Given the description of an element on the screen output the (x, y) to click on. 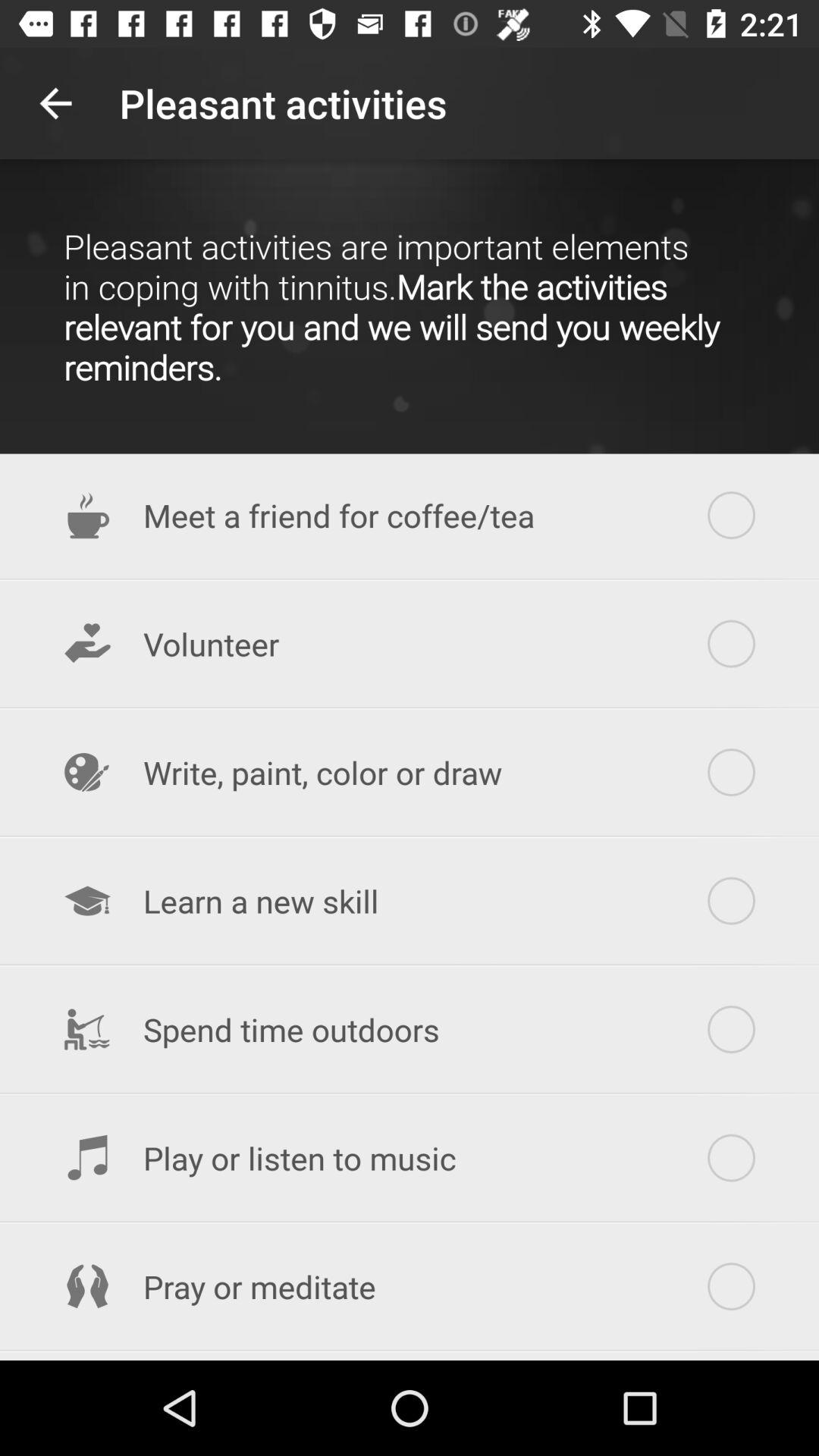
launch the icon below spend time outdoors icon (409, 1157)
